Given the description of an element on the screen output the (x, y) to click on. 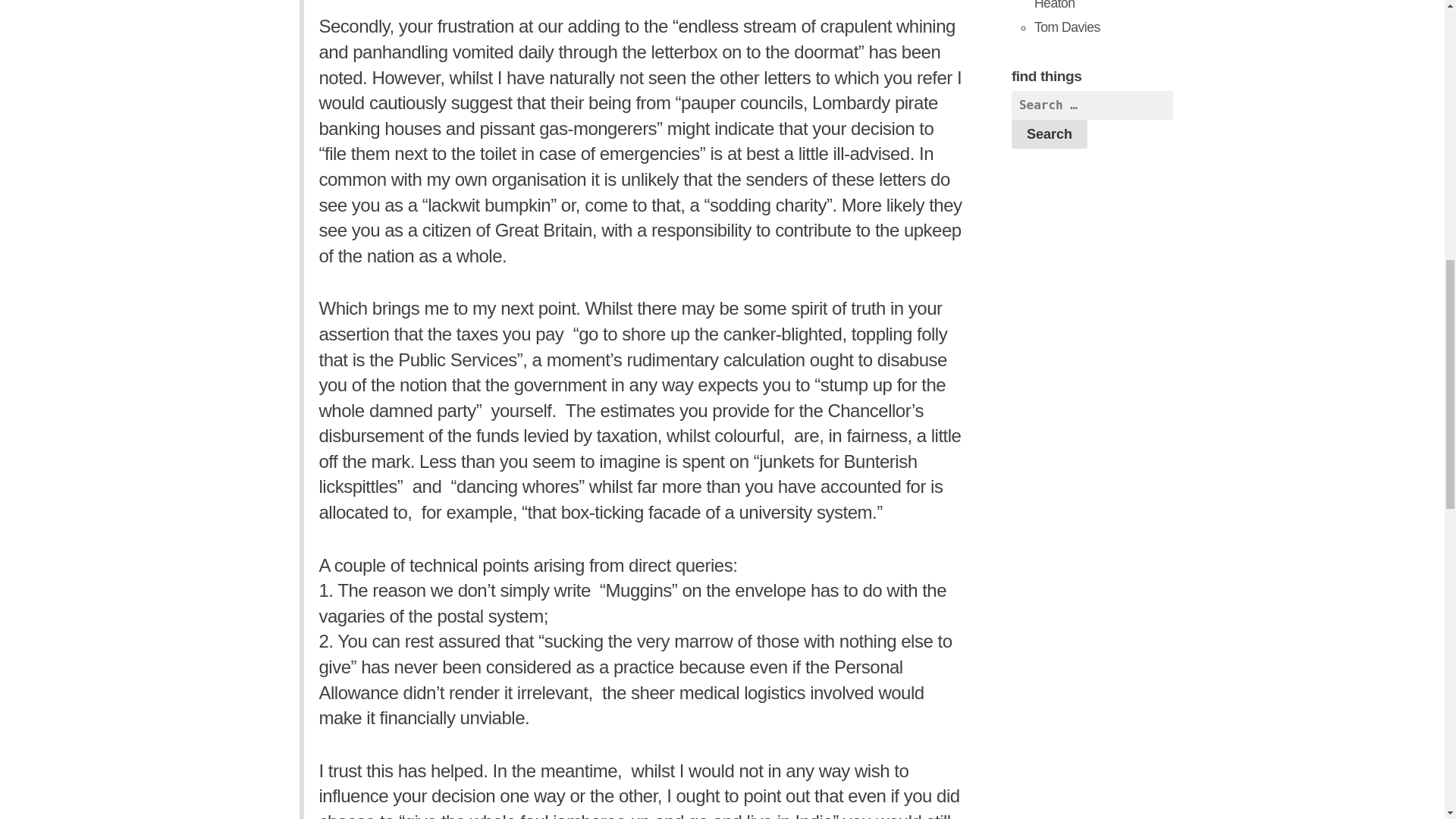
Geoguessr God (1066, 27)
Search (1049, 133)
Search (1049, 133)
